Given the description of an element on the screen output the (x, y) to click on. 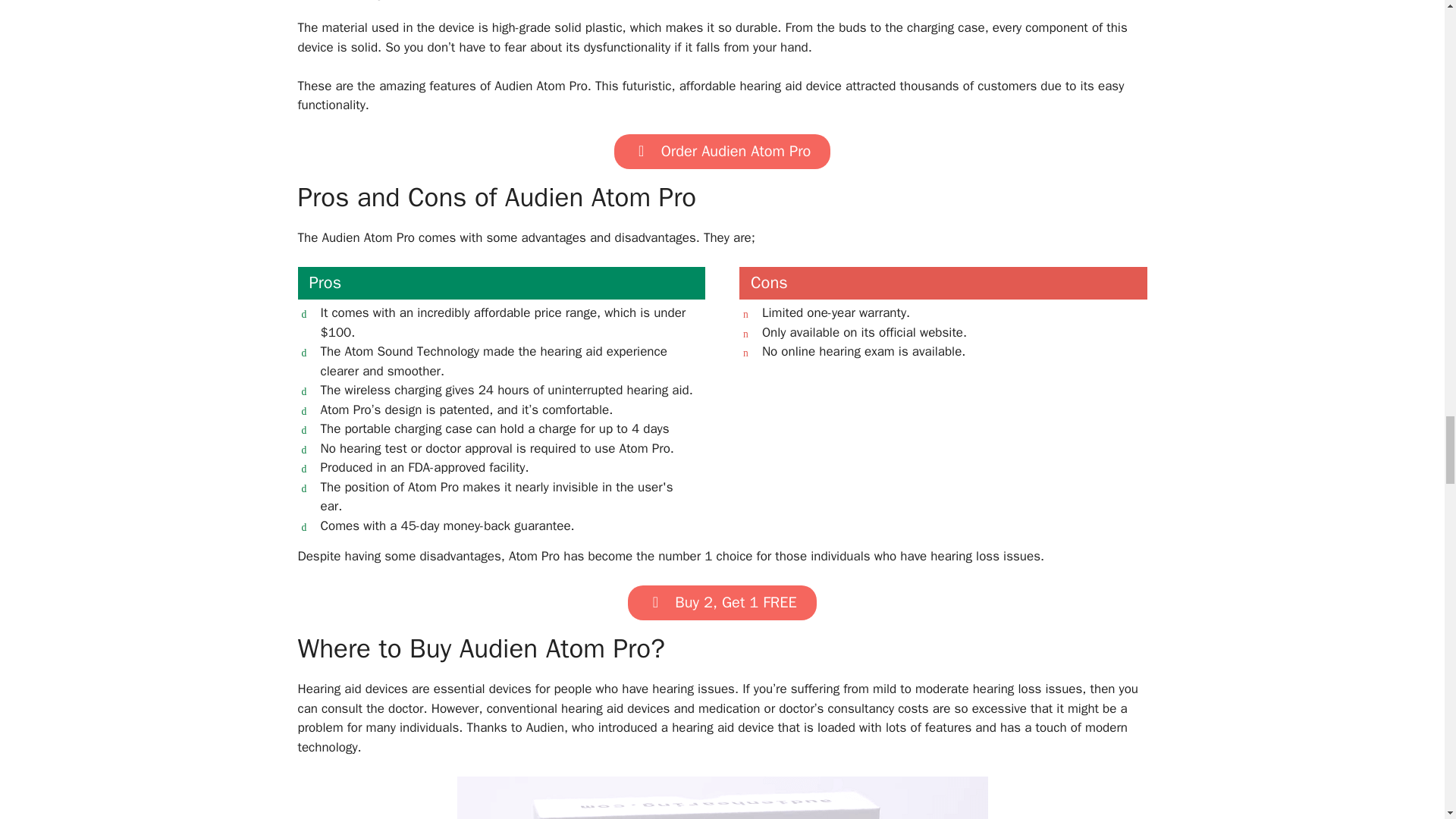
Buy 2, Get 1 FREE (721, 602)
Order Audien Atom Pro (722, 151)
